Given the description of an element on the screen output the (x, y) to click on. 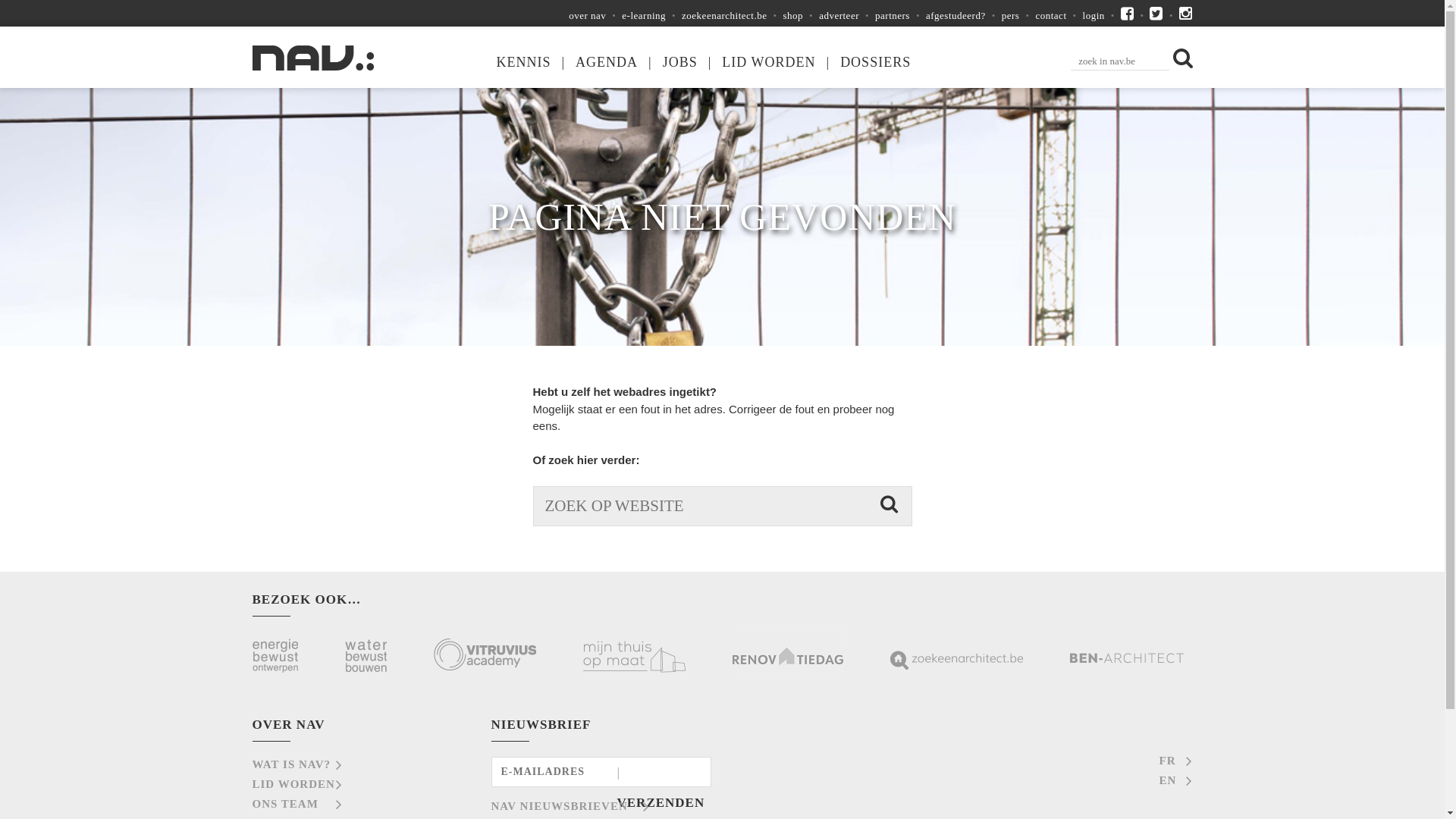
De Renovatiedag Element type: hover (787, 649)
NAV op Facebook Element type: hover (1127, 12)
partners Element type: text (892, 14)
over nav Element type: text (586, 14)
EN Element type: text (1175, 779)
Zoek op website Element type: hover (1182, 57)
ONS TEAM Element type: text (296, 803)
contact Element type: text (1050, 14)
NAV NIEUWSBRIEVEN Element type: text (570, 805)
Energiebewust Ontwerpen Element type: hover (274, 652)
LID WORDEN Element type: text (768, 61)
|VERZENDEN Element type: text (659, 771)
login Element type: text (1093, 14)
BEN Architect Element type: hover (1126, 652)
adverteer Element type: text (839, 14)
AGENDA Element type: text (606, 61)
NAV op Twitter Element type: hover (1156, 12)
Zoek op website Element type: hover (888, 503)
NAV op Instagram Element type: hover (1185, 12)
NAV, Netwerk Architecten Vlaanderen Element type: hover (312, 57)
afgestudeerd? Element type: text (955, 14)
Waterbewustbouwen Element type: hover (364, 652)
shop Element type: text (792, 14)
Vitruvius Academy Element type: hover (484, 652)
DOSSIERS Element type: text (875, 61)
e-learning Element type: text (643, 14)
zoekeenarchitect.be Element type: text (723, 14)
FR Element type: text (1175, 759)
pers Element type: text (1010, 14)
Zoek een Architect Element type: hover (956, 652)
JOBS Element type: text (679, 61)
Mijn Thuis Op Maat Element type: hover (633, 652)
NAV, Netwerk Architecten Vlaanderen Element type: hover (312, 65)
LID WORDEN Element type: text (296, 783)
KENNIS Element type: text (522, 61)
WAT IS NAV? Element type: text (296, 762)
